Given the description of an element on the screen output the (x, y) to click on. 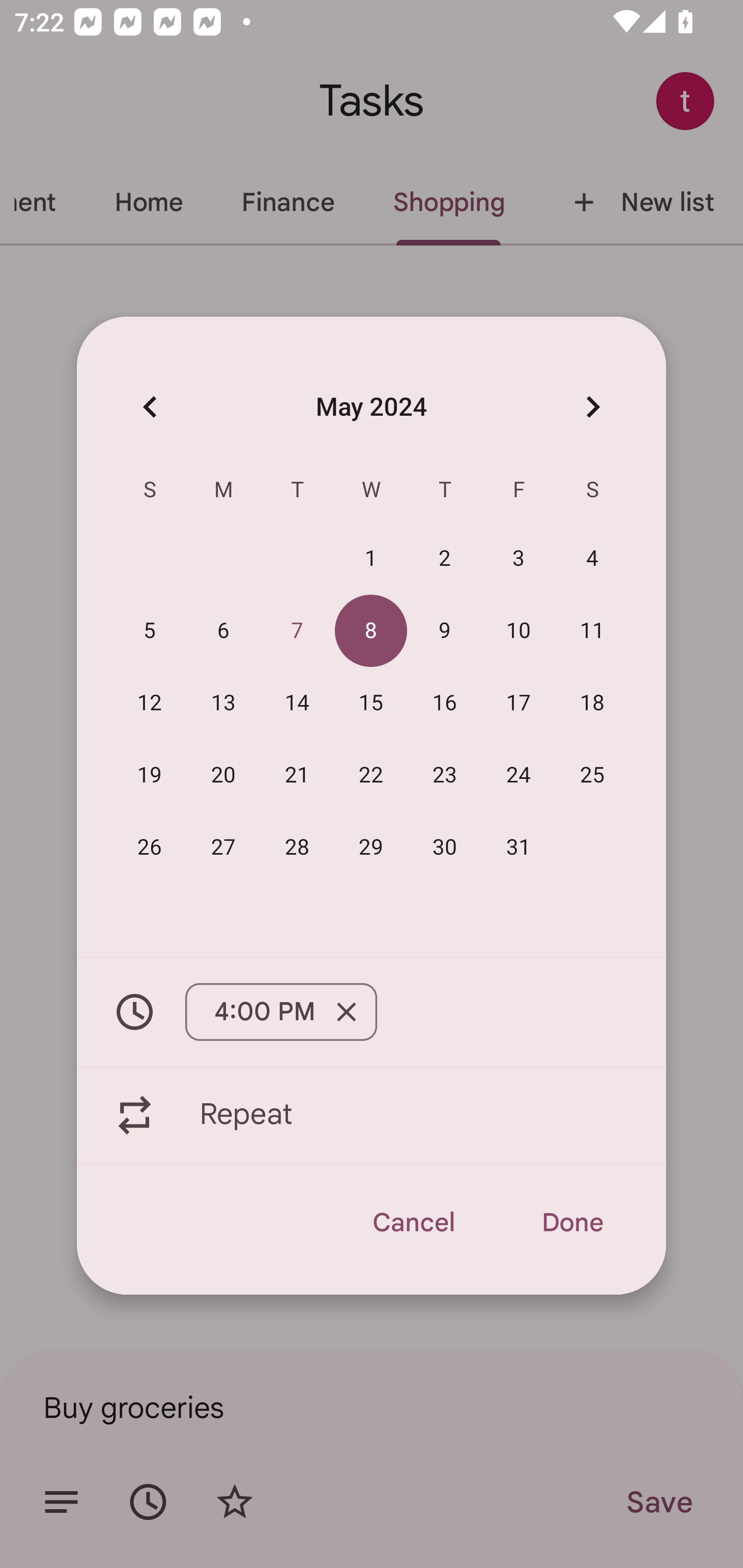
Previous month (149, 406)
Next month (592, 406)
1 01 May 2024 (370, 558)
2 02 May 2024 (444, 558)
3 03 May 2024 (518, 558)
4 04 May 2024 (592, 558)
5 05 May 2024 (149, 630)
6 06 May 2024 (223, 630)
7 07 May 2024 (297, 630)
8 08 May 2024 (370, 630)
9 09 May 2024 (444, 630)
10 10 May 2024 (518, 630)
11 11 May 2024 (592, 630)
12 12 May 2024 (149, 702)
13 13 May 2024 (223, 702)
14 14 May 2024 (297, 702)
15 15 May 2024 (370, 702)
16 16 May 2024 (444, 702)
17 17 May 2024 (518, 702)
18 18 May 2024 (592, 702)
19 19 May 2024 (149, 774)
20 20 May 2024 (223, 774)
21 21 May 2024 (297, 774)
22 22 May 2024 (370, 774)
23 23 May 2024 (444, 774)
24 24 May 2024 (518, 774)
25 25 May 2024 (592, 774)
26 26 May 2024 (149, 846)
27 27 May 2024 (223, 846)
28 28 May 2024 (297, 846)
29 29 May 2024 (370, 846)
30 30 May 2024 (444, 846)
31 31 May 2024 (518, 846)
4:00 PM Remove 4:00 PM (371, 1012)
4:00 PM Remove 4:00 PM (281, 1012)
Repeat (371, 1114)
Cancel (412, 1222)
Done (571, 1222)
